Given the description of an element on the screen output the (x, y) to click on. 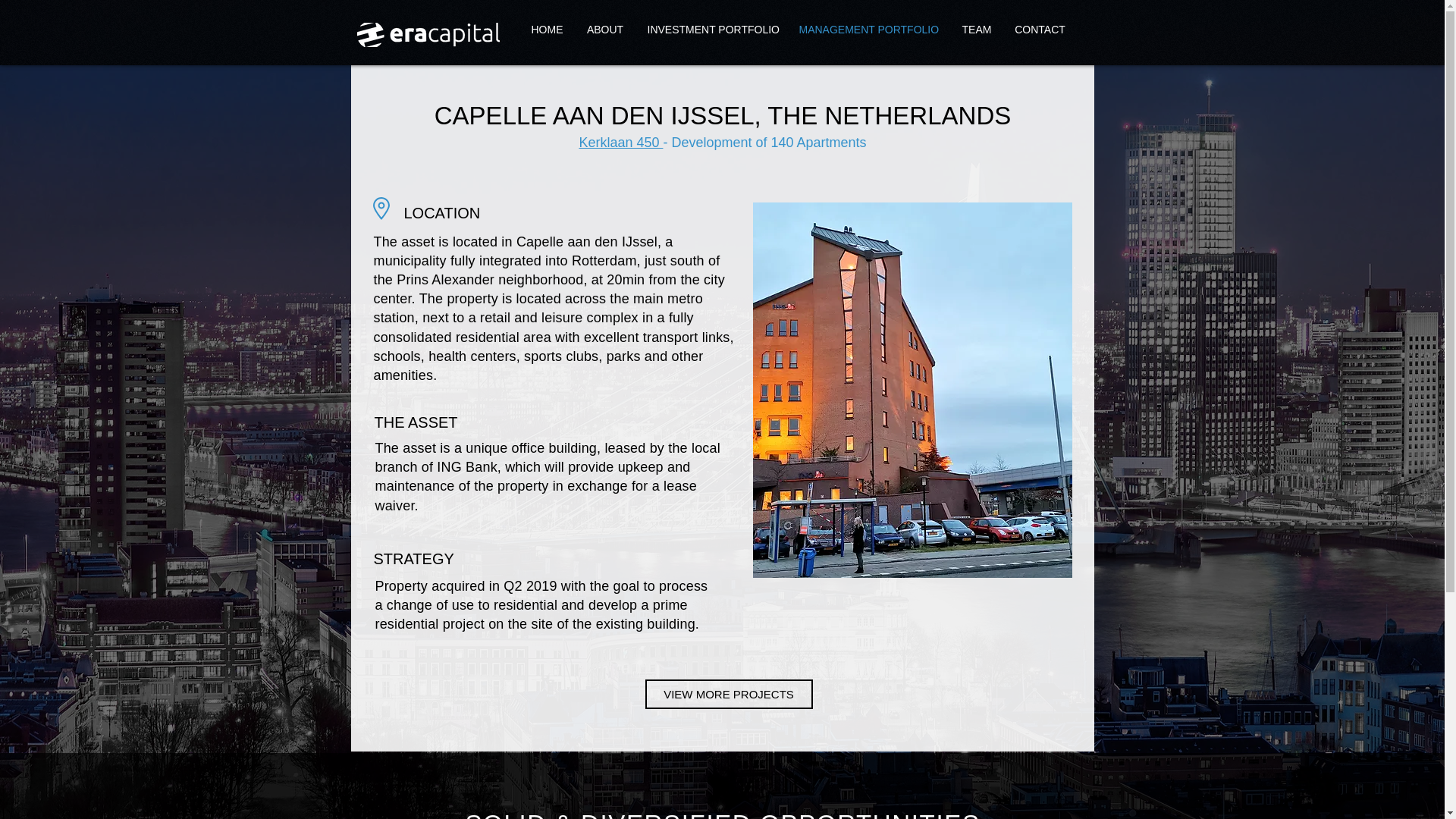
MANAGEMENT PORTFOLIO (868, 30)
HOME (545, 30)
CONTACT (1040, 30)
INVESTMENT PORTFOLIO (710, 30)
ABOUT (604, 30)
TEAM (975, 30)
Kerklaan 450 (620, 142)
VIEW MORE PROJECTS (728, 694)
